Given the description of an element on the screen output the (x, y) to click on. 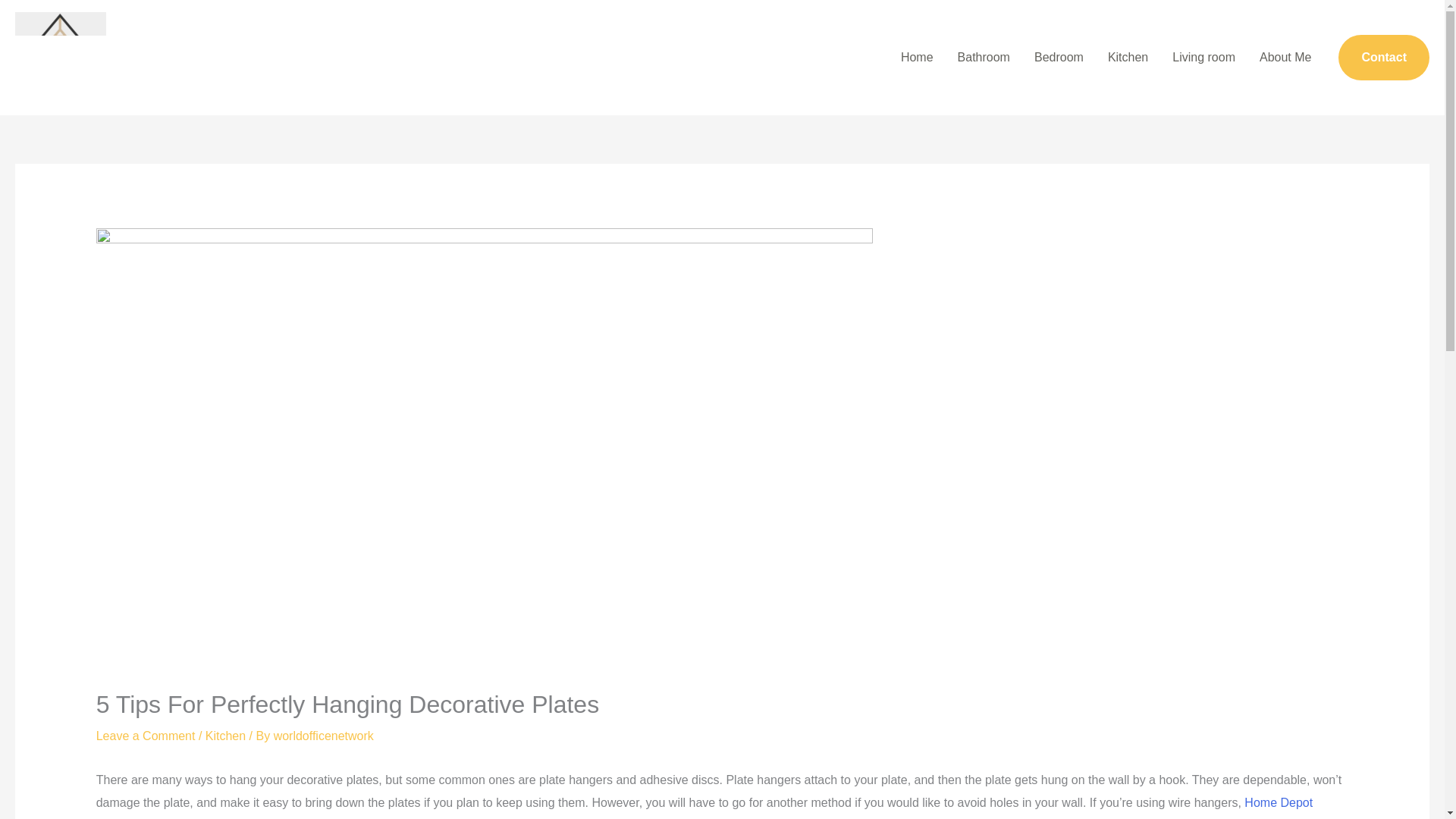
Home Depot (1278, 802)
Kitchen (225, 735)
Leave a Comment (145, 735)
Bathroom (983, 57)
Home (916, 57)
Bedroom (1059, 57)
About Me (1285, 57)
Kitchen (1128, 57)
worldofficenetwork (323, 735)
Contact (1383, 57)
